Given the description of an element on the screen output the (x, y) to click on. 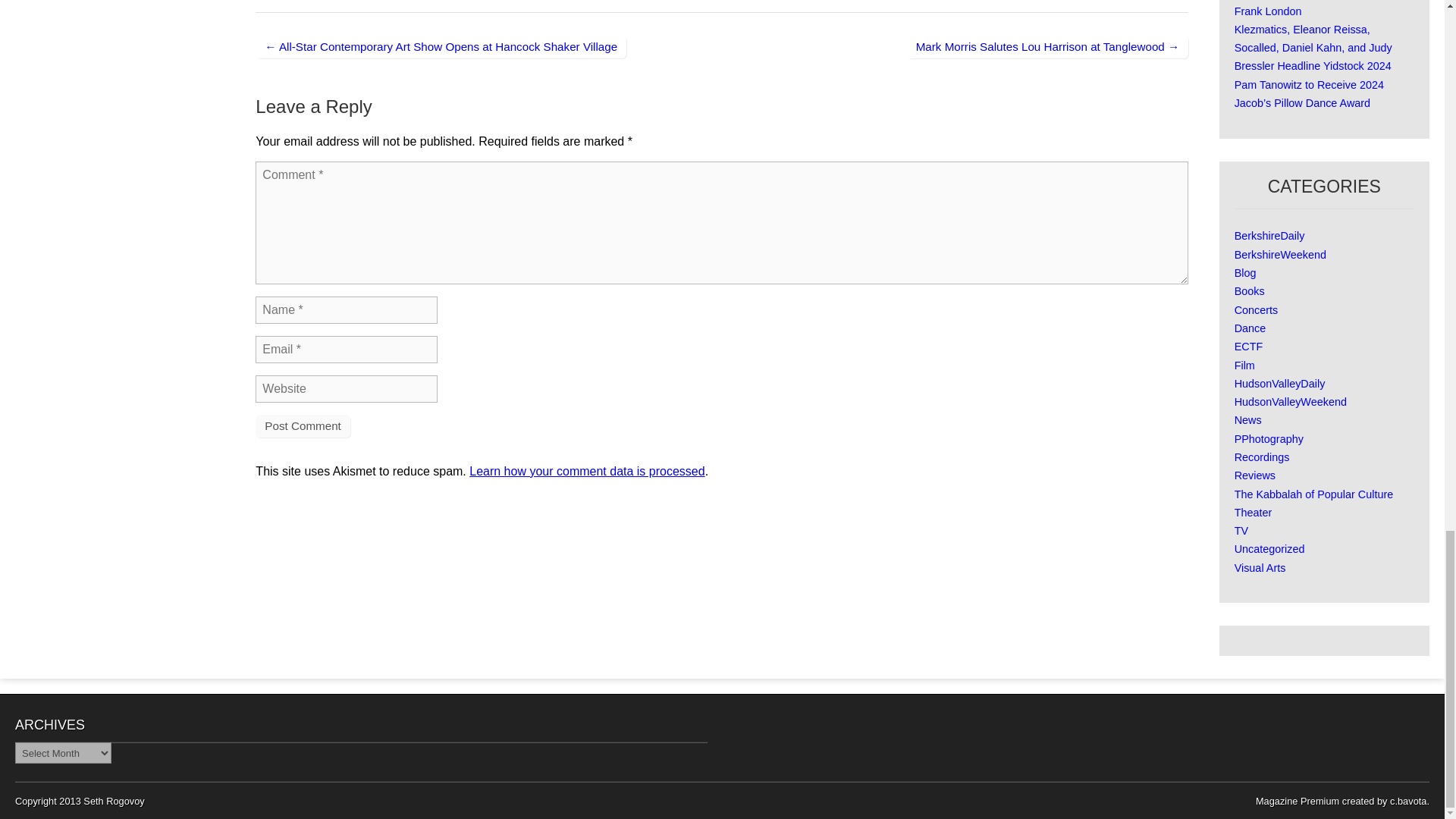
Post Comment (302, 425)
Post Comment (302, 425)
Learn how your comment data is processed (586, 471)
